Given the description of an element on the screen output the (x, y) to click on. 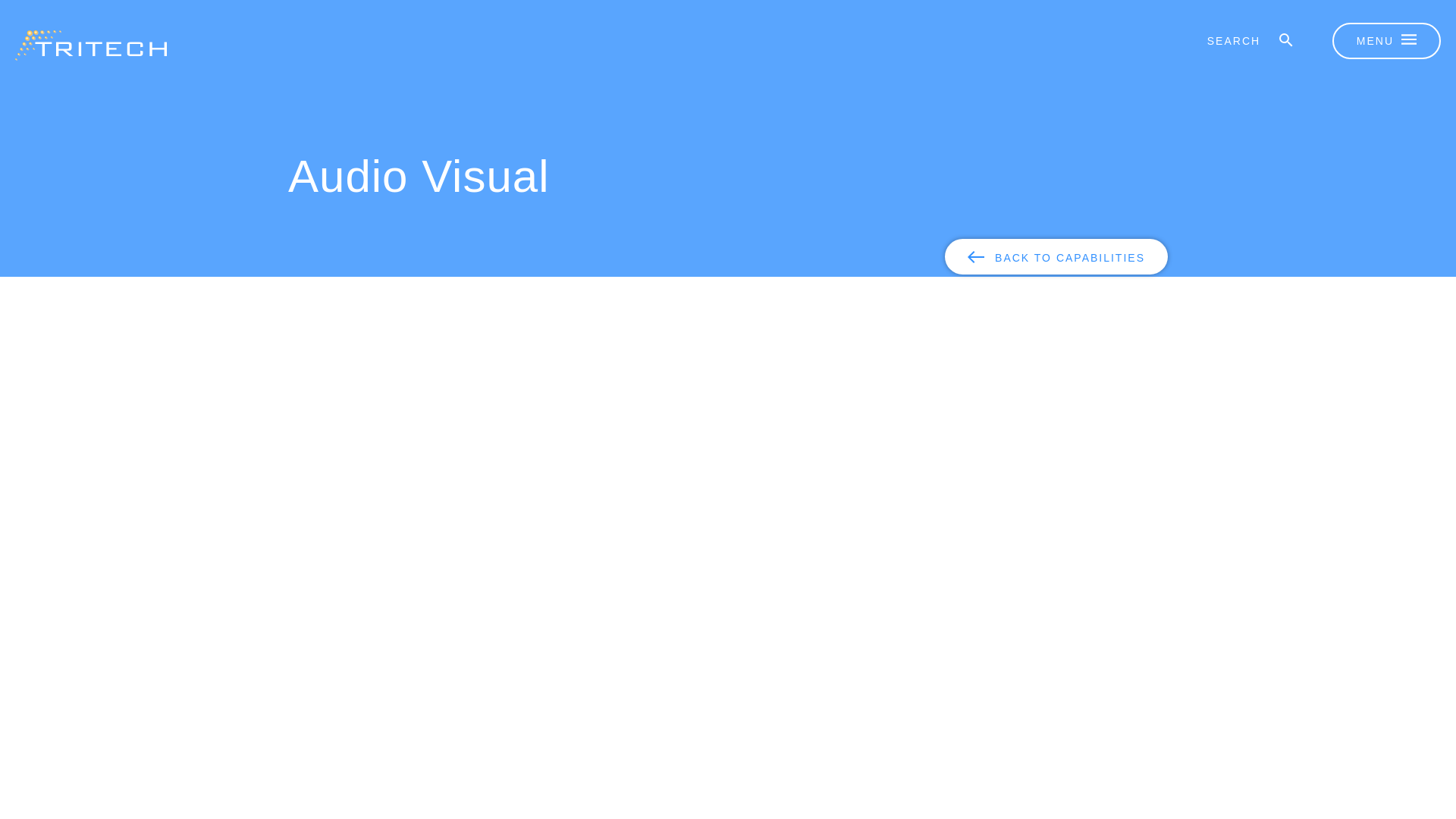
Search for: (1239, 40)
